Given the description of an element on the screen output the (x, y) to click on. 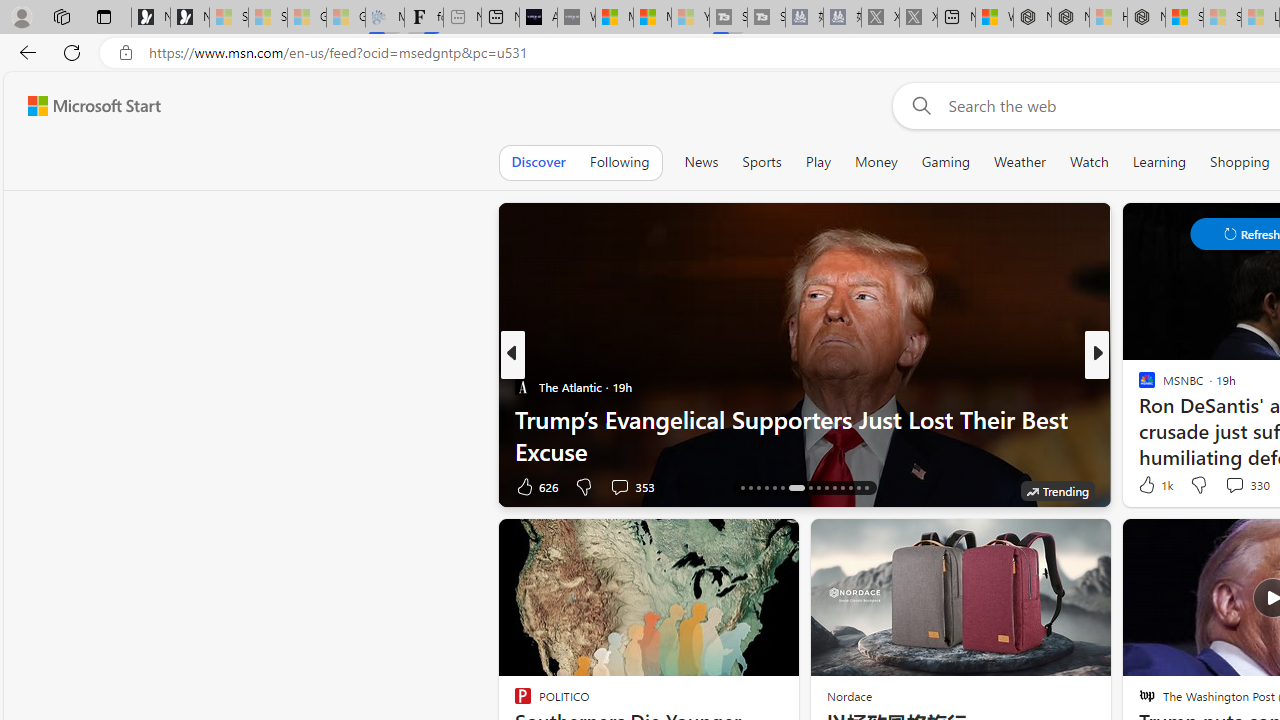
181 Like (1151, 486)
View comments 55 Comment (1237, 486)
Planning to Organize (1138, 386)
AutomationID: tab-25 (825, 487)
Learning (1159, 162)
Microsoft Start (651, 17)
MUO (1138, 386)
View comments 6 Comment (11, 485)
What's the best AI voice generator? - voice.ai - Sleeping (576, 17)
Discover (538, 162)
AutomationID: tab-18 (757, 487)
Stacker (1138, 386)
